Given the description of an element on the screen output the (x, y) to click on. 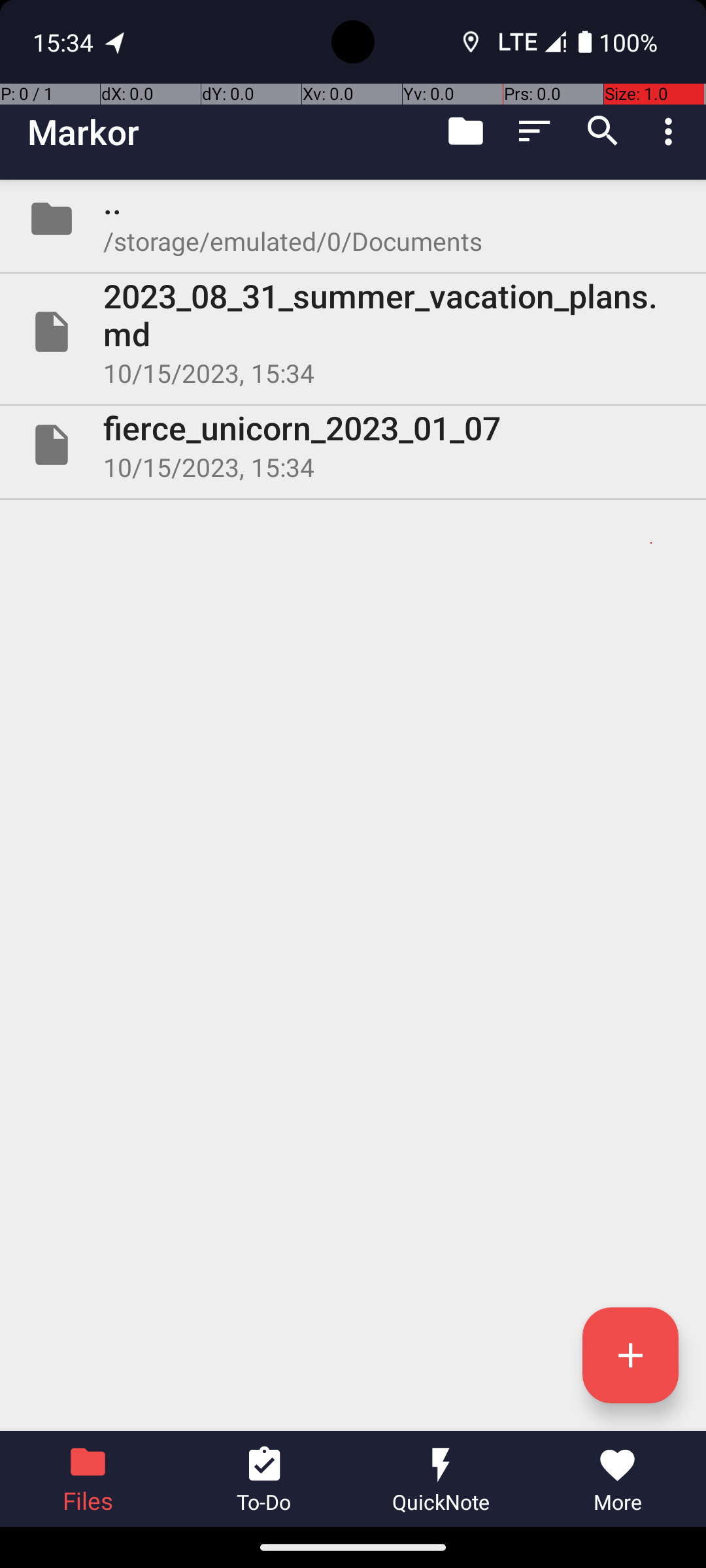
File 2023_08_31_summer_vacation_plans.md 10/15/2023, 15:34 Element type: android.widget.LinearLayout (353, 331)
File fierce_unicorn_2023_01_07 10/15/2023, 15:34 Element type: android.widget.LinearLayout (353, 444)
